Given the description of an element on the screen output the (x, y) to click on. 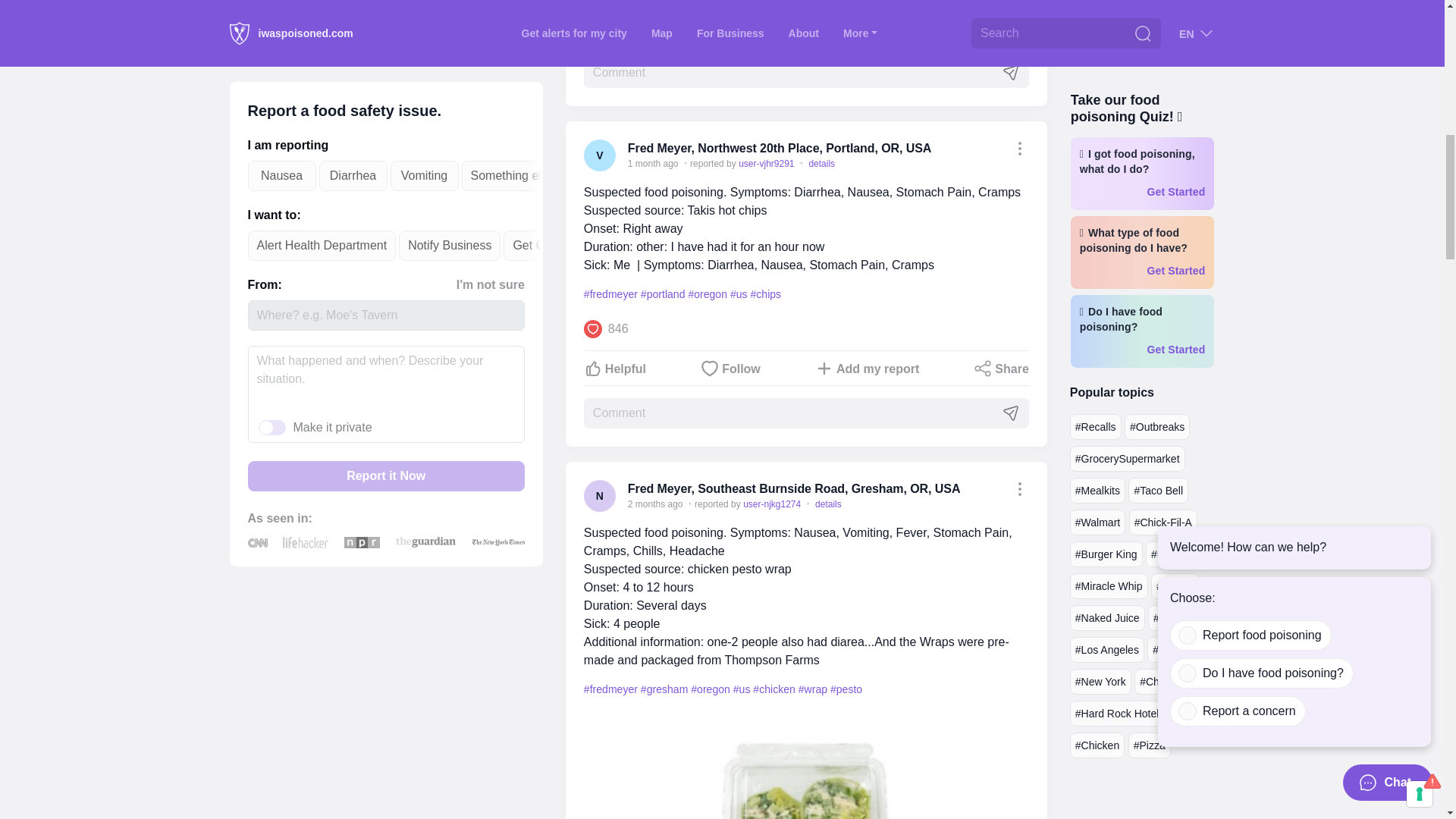
Fred Meyer, Northwest 20th Place, Portland, OR, USA (779, 147)
Fred Meyer, Southeast Burnside Road, Gresham, OR, USA (793, 488)
Copied (1019, 488)
Copied (1019, 148)
